Given the description of an element on the screen output the (x, y) to click on. 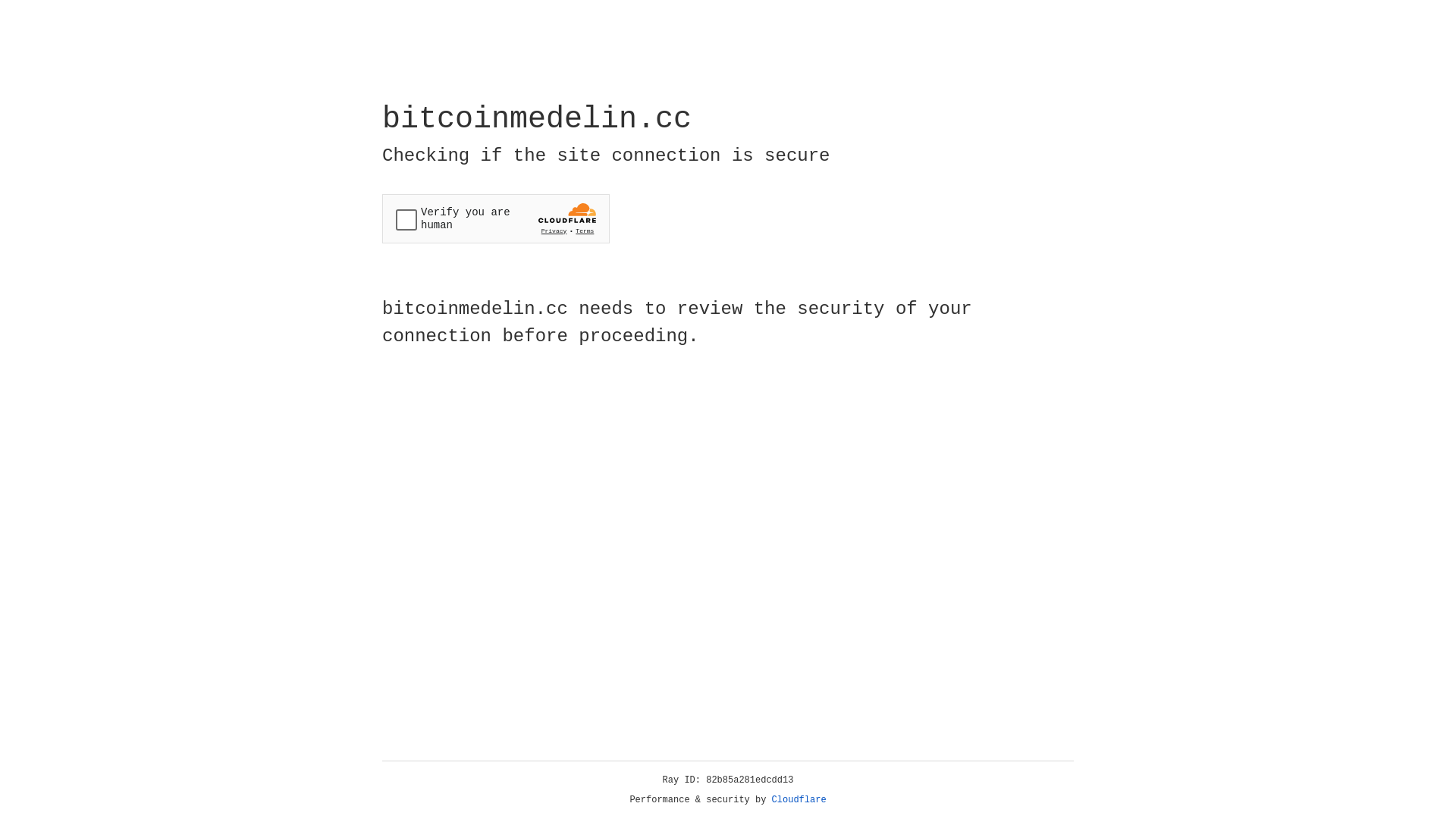
Widget containing a Cloudflare security challenge Element type: hover (495, 218)
Cloudflare Element type: text (798, 799)
